Given the description of an element on the screen output the (x, y) to click on. 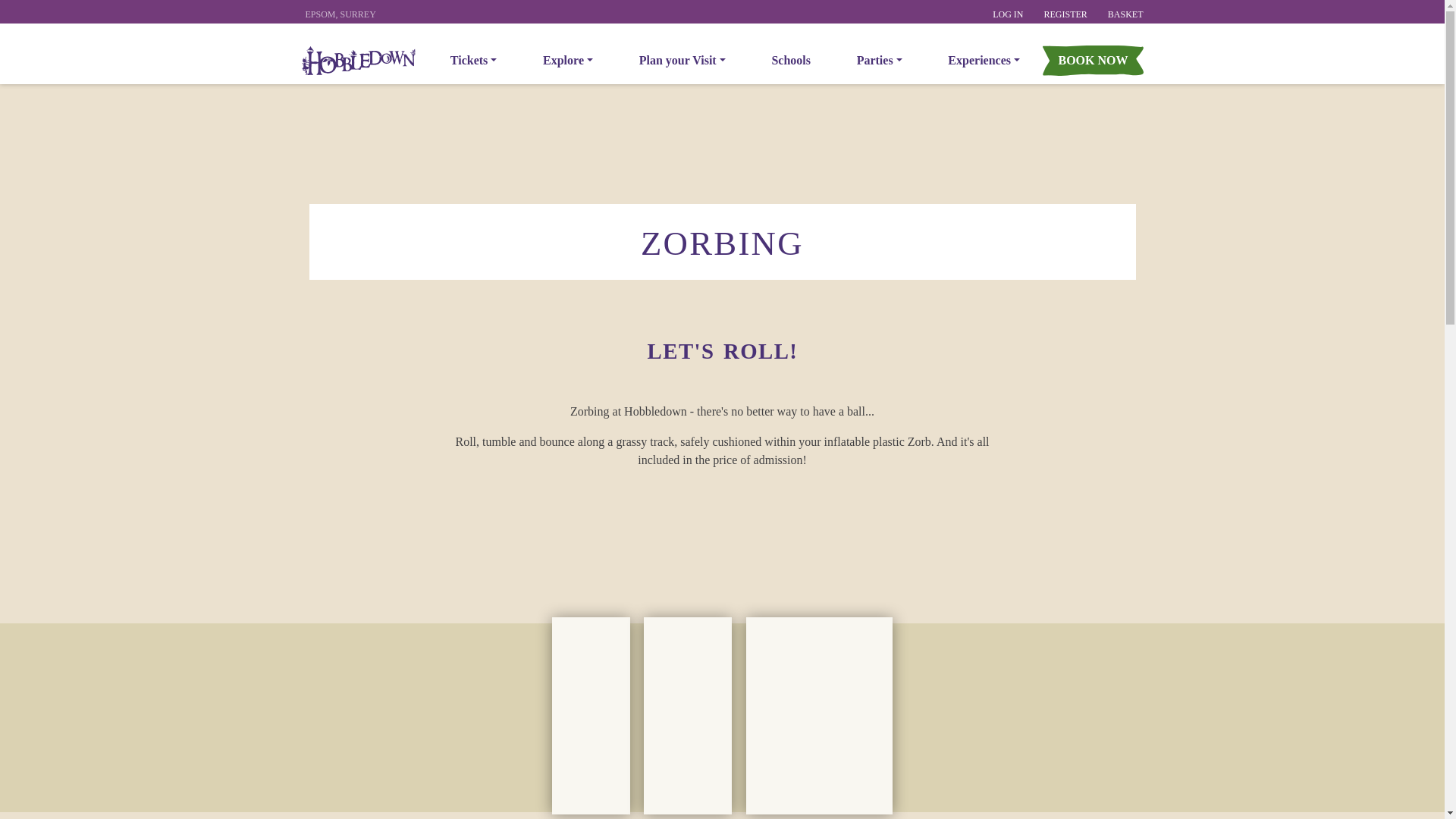
Experiences (983, 60)
Parties (1007, 14)
EPSOM, SURREY (879, 60)
Tickets (682, 60)
Explore (340, 14)
Schools (473, 60)
